Given the description of an element on the screen output the (x, y) to click on. 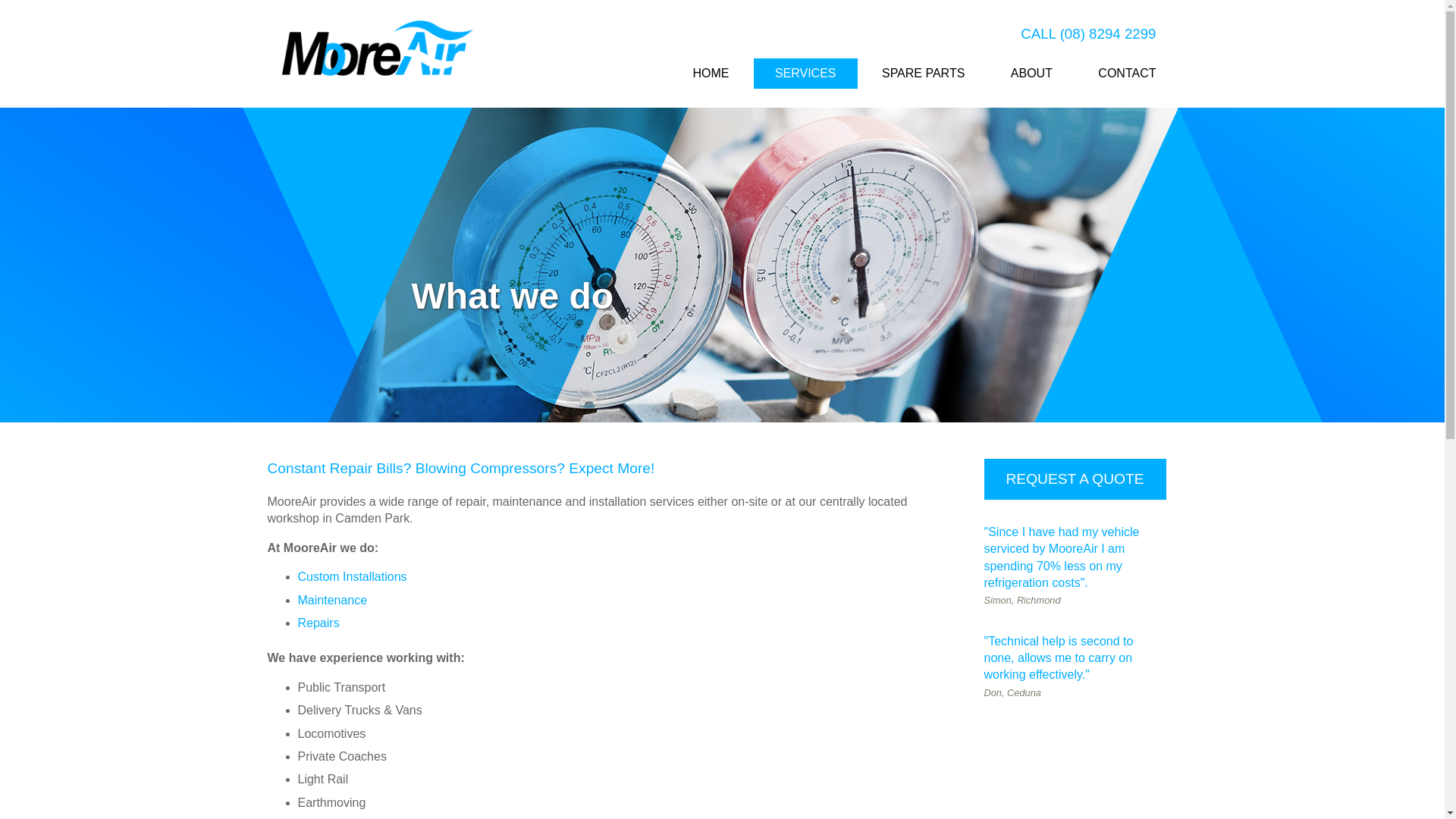
Repairs Element type: text (317, 622)
ABOUT Element type: text (1031, 73)
SERVICES Element type: text (805, 73)
Custom Installations Element type: text (351, 576)
HOME Element type: text (710, 73)
Maintenance Element type: text (332, 599)
SPARE PARTS Element type: text (922, 73)
REQUEST A QUOTE Element type: text (1075, 478)
CONTACT Element type: text (1126, 73)
